Given the description of an element on the screen output the (x, y) to click on. 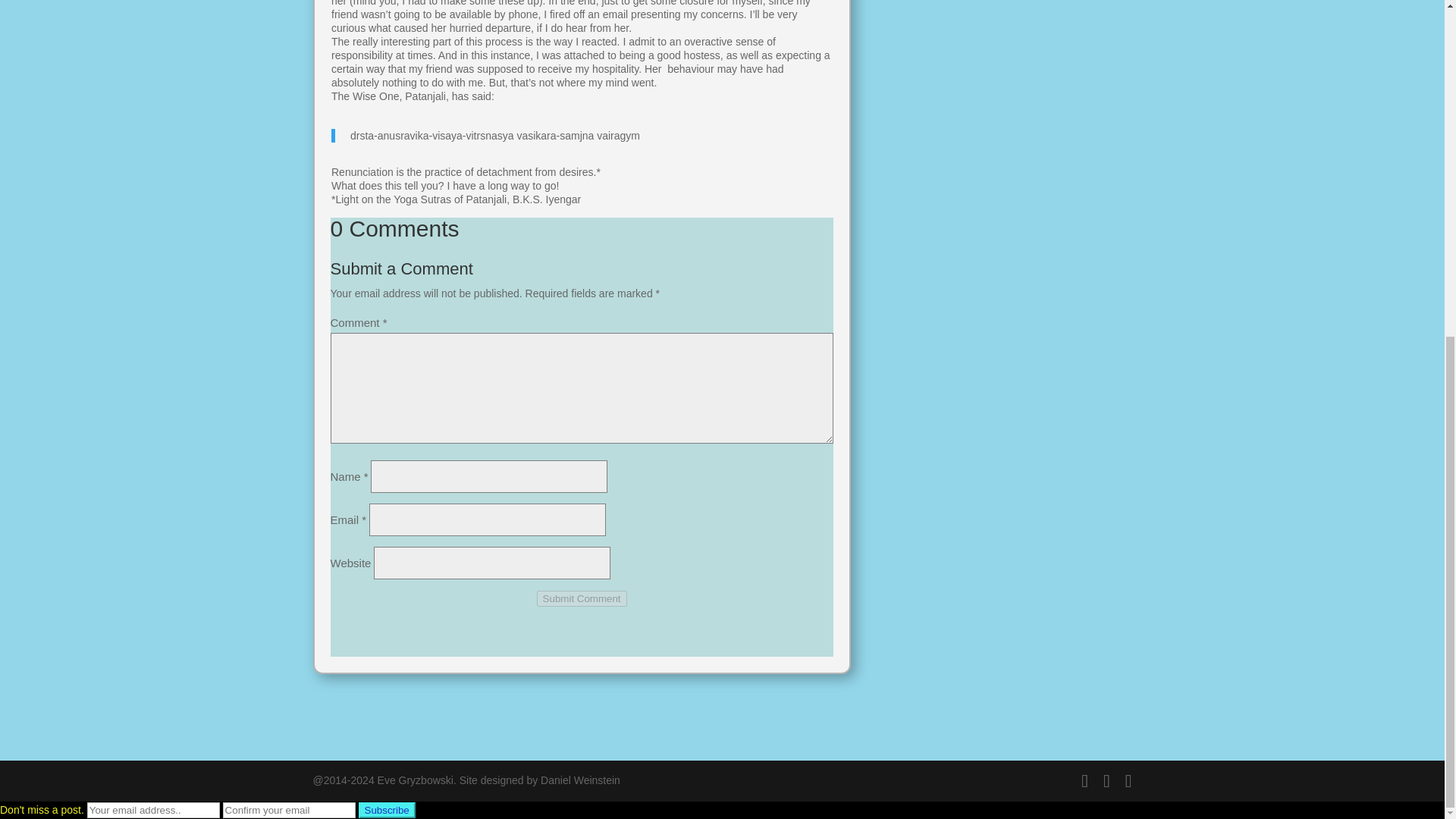
Subscribe (386, 810)
Submit Comment (582, 598)
